Given the description of an element on the screen output the (x, y) to click on. 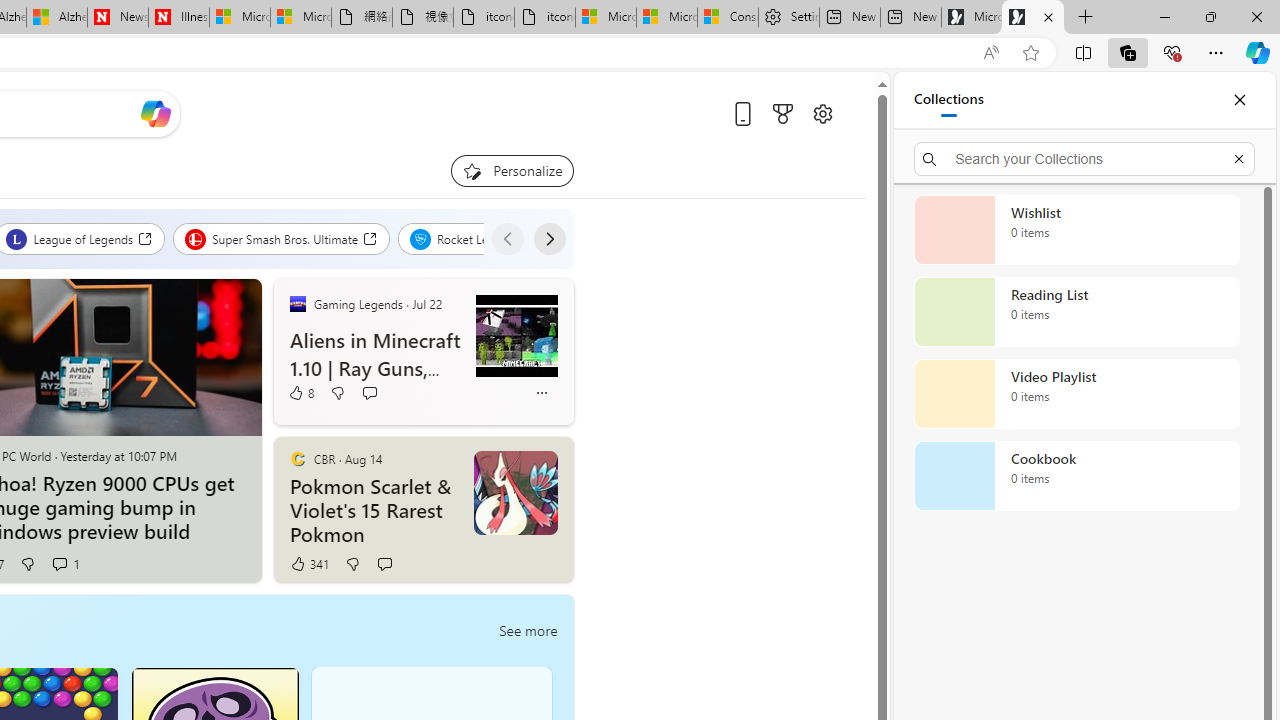
Hide this story (512, 460)
Rocket League (472, 238)
Video Playlist collection, 0 items (1076, 394)
View comments 1 Comment (65, 564)
Next (548, 238)
Personalize your feed" (511, 170)
Previous (507, 238)
Reading List collection, 0 items (1076, 312)
Super Smash Bros. Ultimate (282, 238)
